Given the description of an element on the screen output the (x, y) to click on. 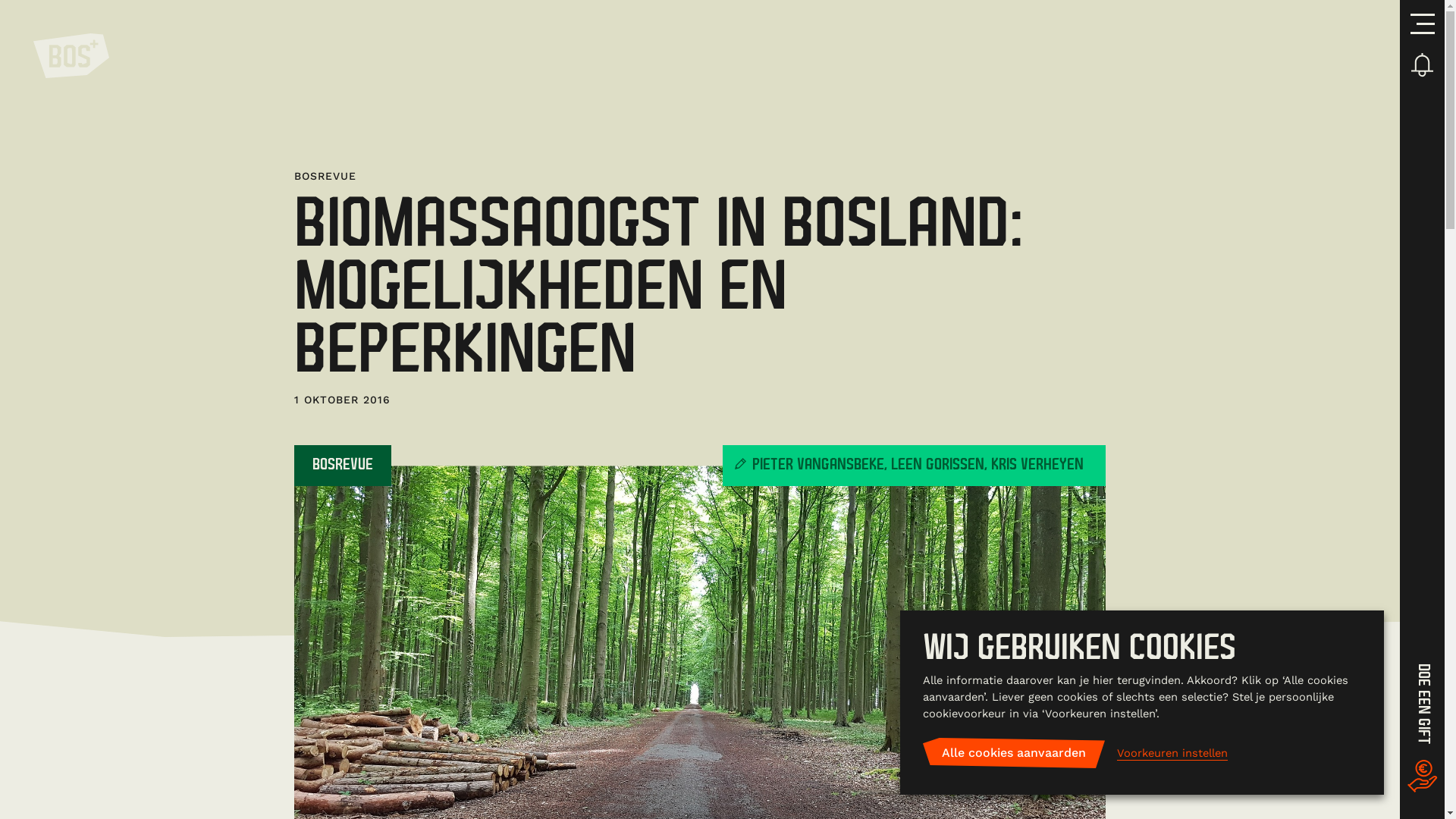
BOS+ Element type: hover (71, 58)
Alle cookies aanvaarden Element type: text (1013, 752)
Updates Element type: hover (1421, 65)
DOE EEN GIFT Element type: text (1421, 728)
BOSREVUE Element type: text (342, 465)
Menu Element type: hover (1421, 25)
Voorkeuren instellen Element type: text (1172, 753)
